Given the description of an element on the screen output the (x, y) to click on. 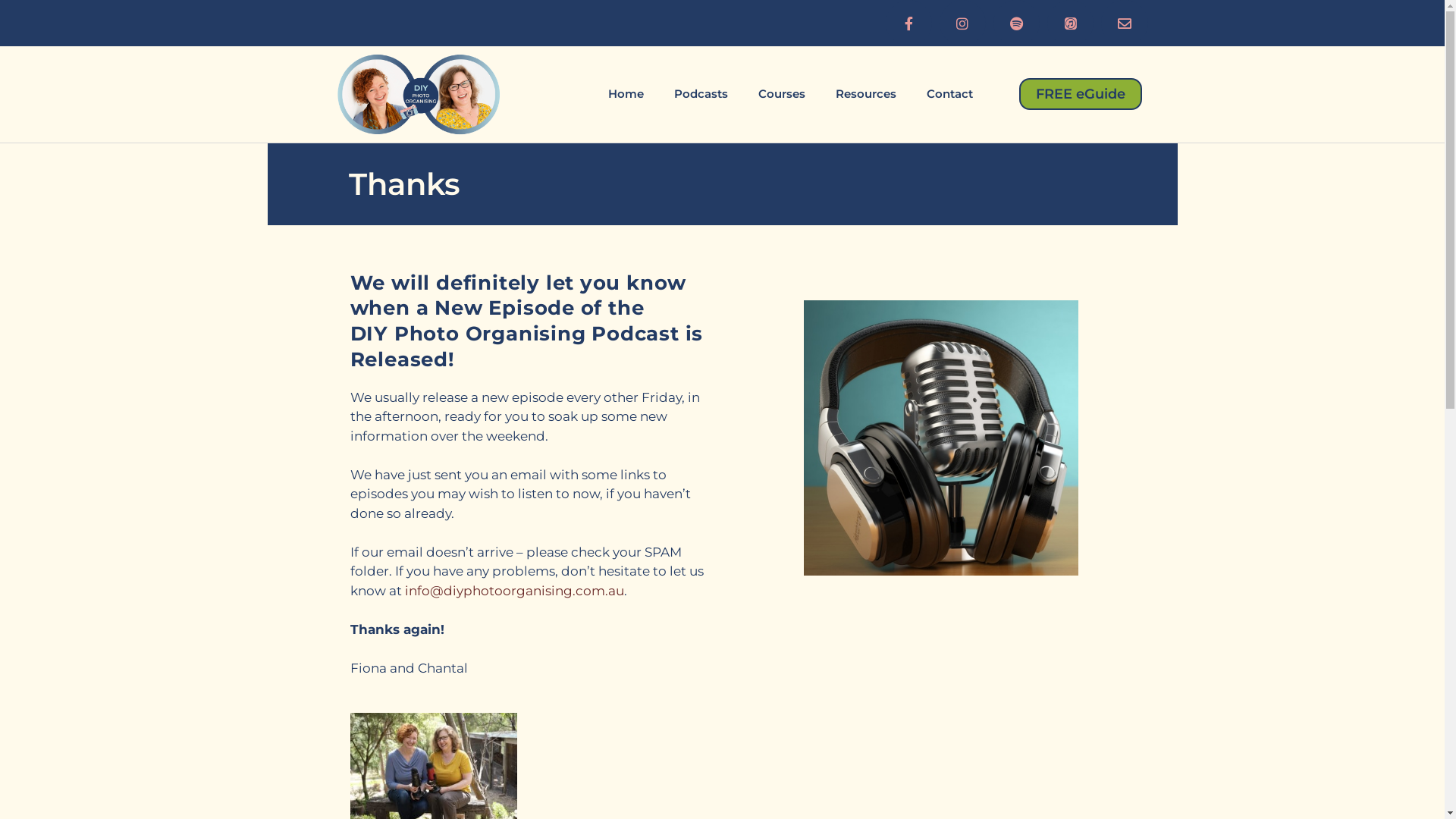
Resources Element type: text (865, 93)
Home Element type: text (625, 93)
Podcasts Element type: text (700, 93)
FREE eGuide Element type: text (1080, 93)
info@diyphotoorganising.com.au Element type: text (514, 590)
Courses Element type: text (781, 93)
Contact Element type: text (949, 93)
